Given the description of an element on the screen output the (x, y) to click on. 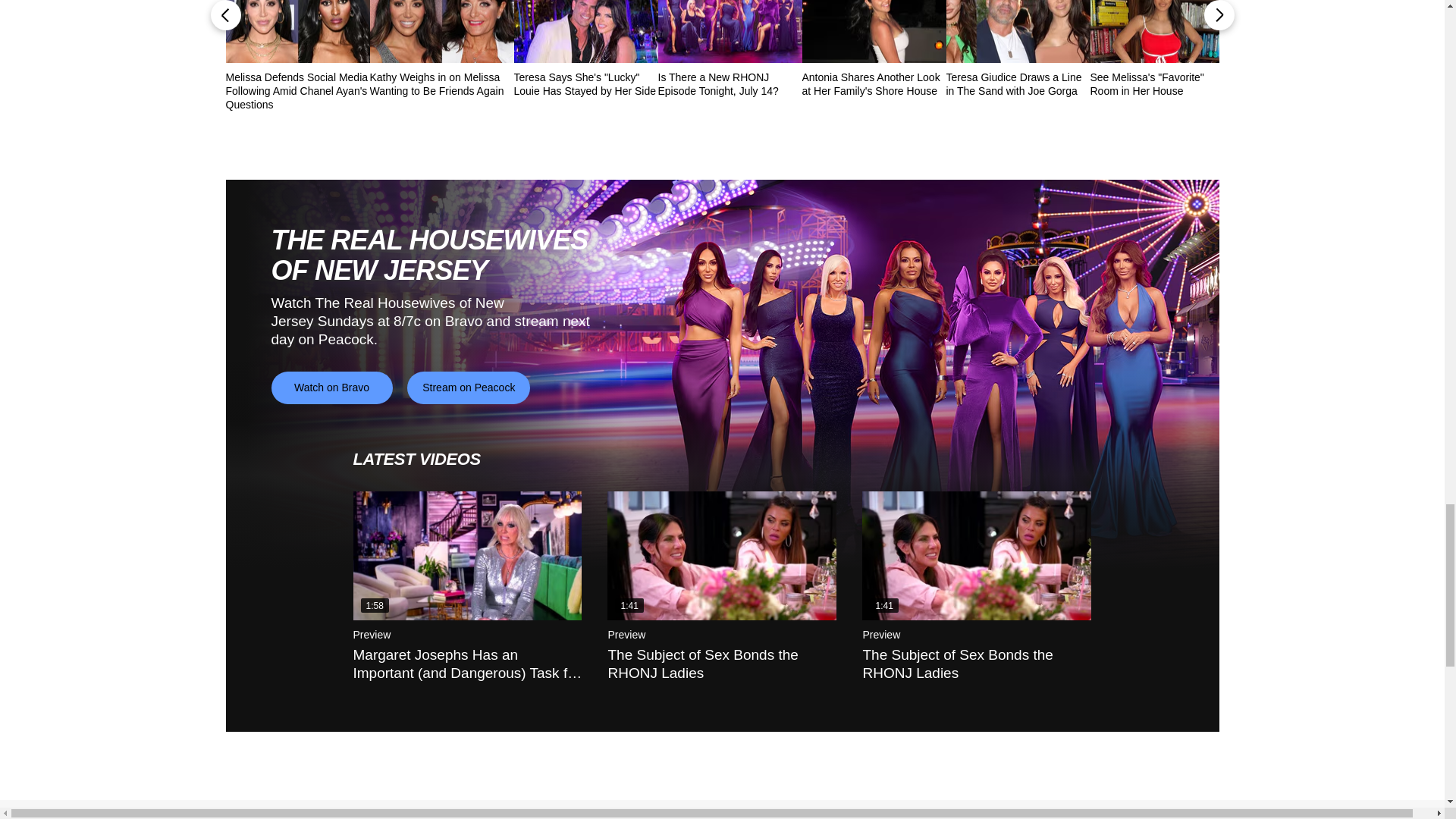
The Subject of Sex Bonds the RHONJ Ladies (975, 555)
The Subject of Sex Bonds the RHONJ Ladies (721, 555)
